Given the description of an element on the screen output the (x, y) to click on. 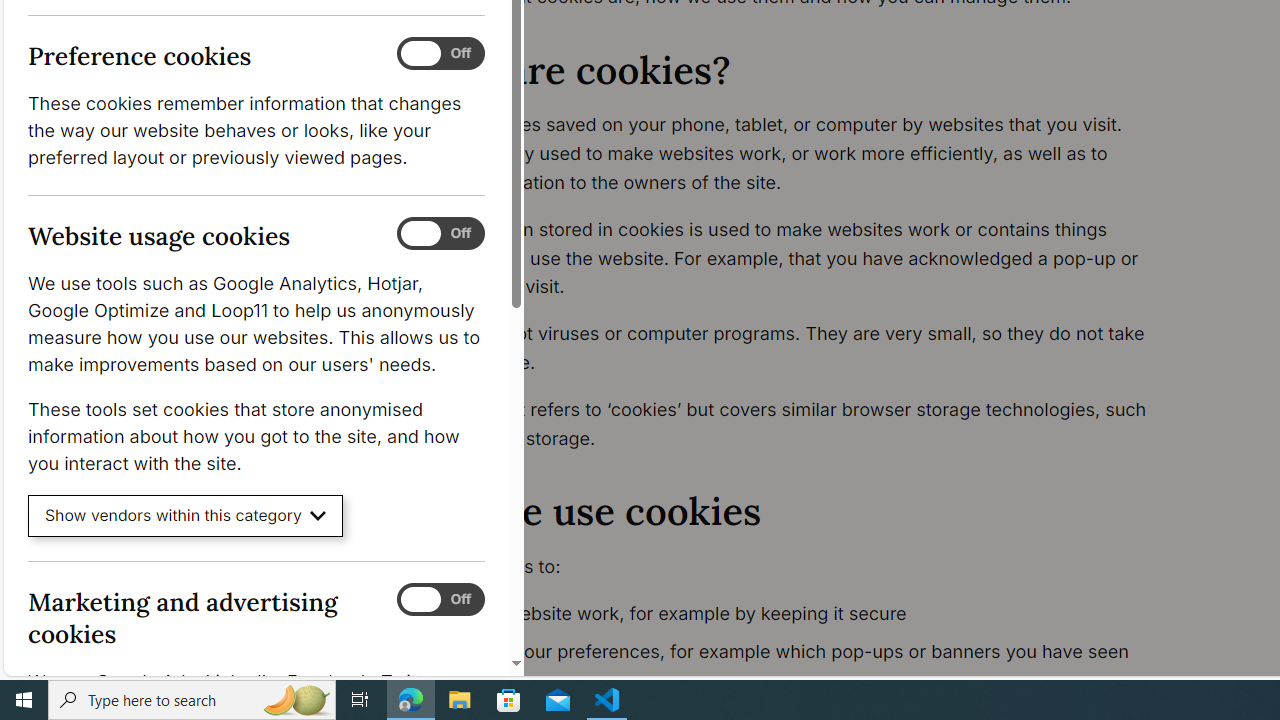
Show vendors within this category (185, 516)
Website usage cookies (440, 233)
Marketing and advertising cookies (440, 599)
Preference cookies (440, 53)
make our website work, for example by keeping it secure (796, 614)
